Given the description of an element on the screen output the (x, y) to click on. 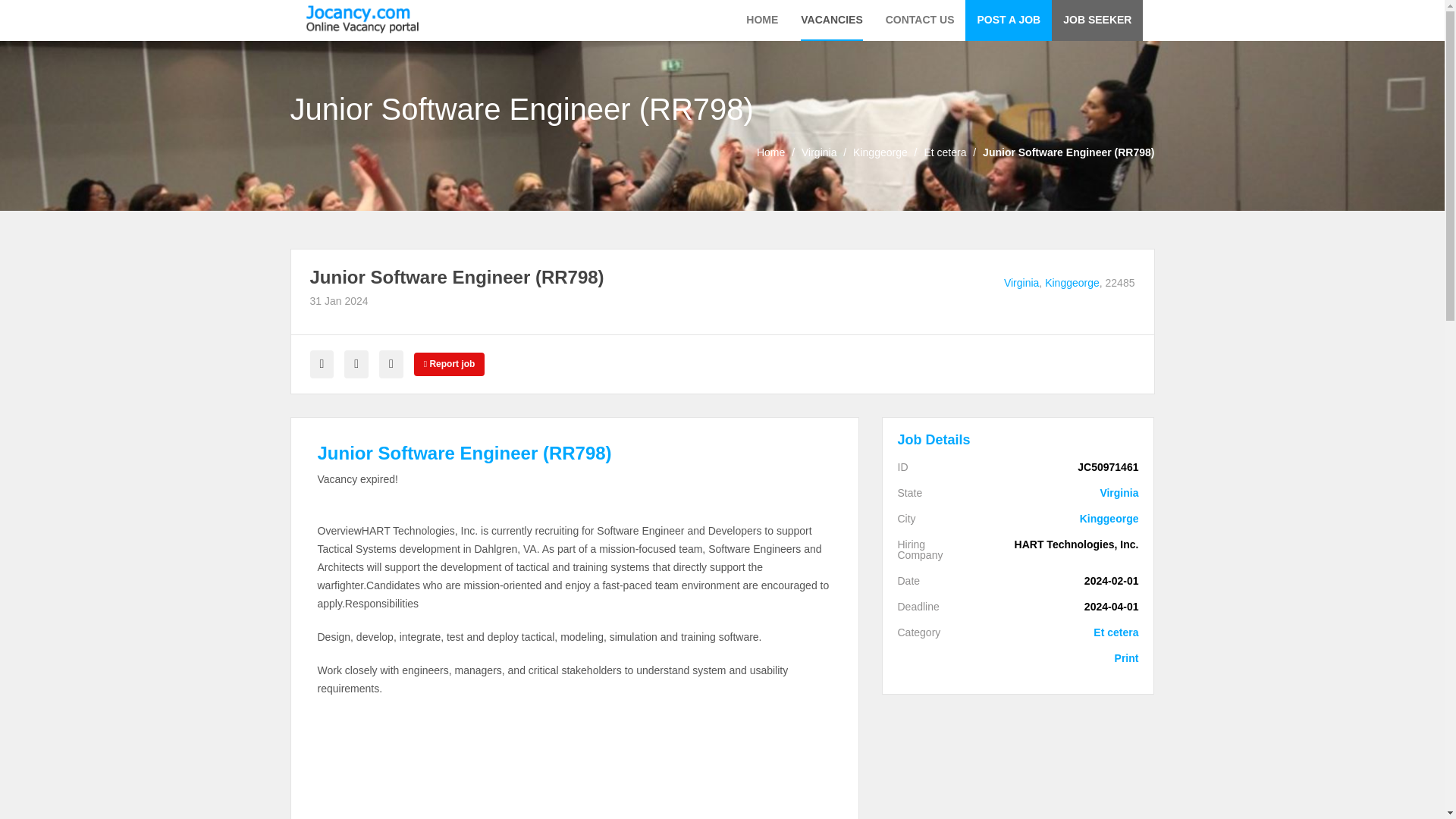
kinggeorge (879, 152)
Print (1061, 657)
Kinggeorge (1061, 518)
Virginia (1061, 492)
et cetera (944, 152)
Home (770, 152)
Kinggeorge (1072, 282)
Virginia (1061, 492)
Vacancies (830, 20)
Job Seeker (1096, 20)
JOB SEEKER (1096, 20)
Et cetera (944, 152)
Jocancy - jocancy.com (362, 19)
Kinggeorge (1061, 518)
Post a Job (1008, 20)
